Given the description of an element on the screen output the (x, y) to click on. 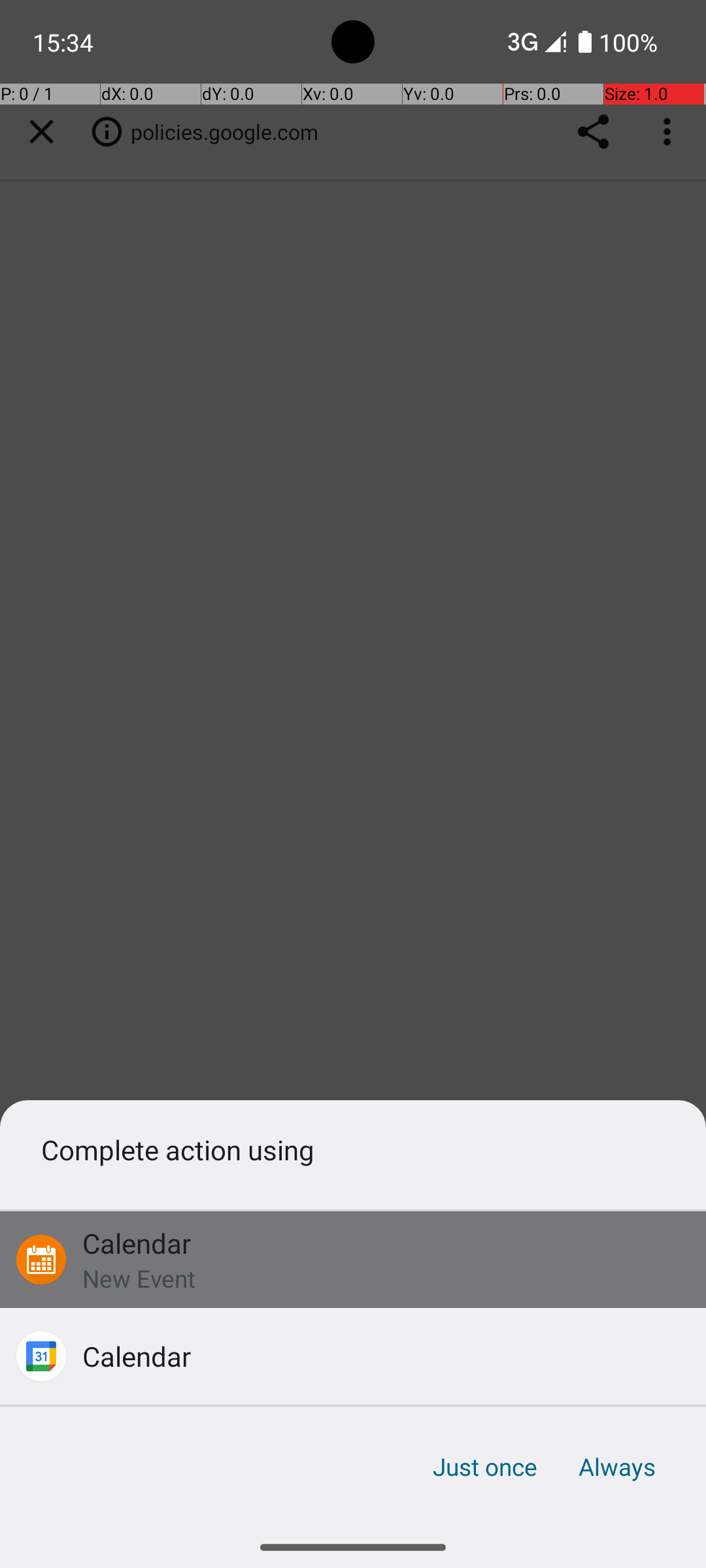
Complete action using Element type: android.widget.TextView (352, 1149)
